Given the description of an element on the screen output the (x, y) to click on. 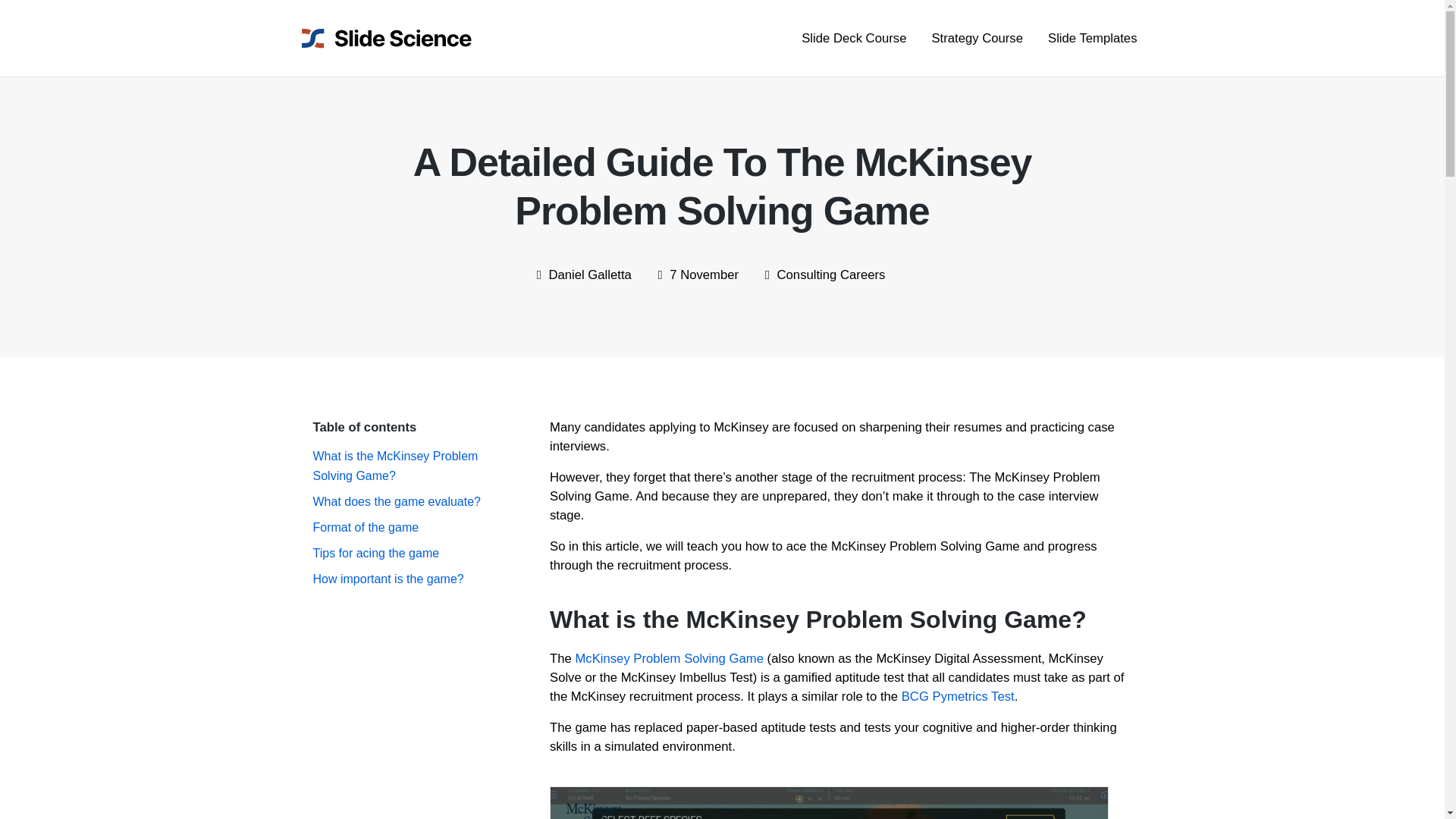
A Detailed Guide To The McKinsey Problem Solving Game (829, 802)
BCG Pymetrics Test (957, 696)
Consulting Careers (831, 274)
Strategy Course (970, 38)
What is the McKinsey Problem Solving Game? (395, 465)
Slide Deck Course (847, 38)
How important is the game? (388, 578)
Strategy Course (970, 38)
Slide Deck Course (847, 38)
